Given the description of an element on the screen output the (x, y) to click on. 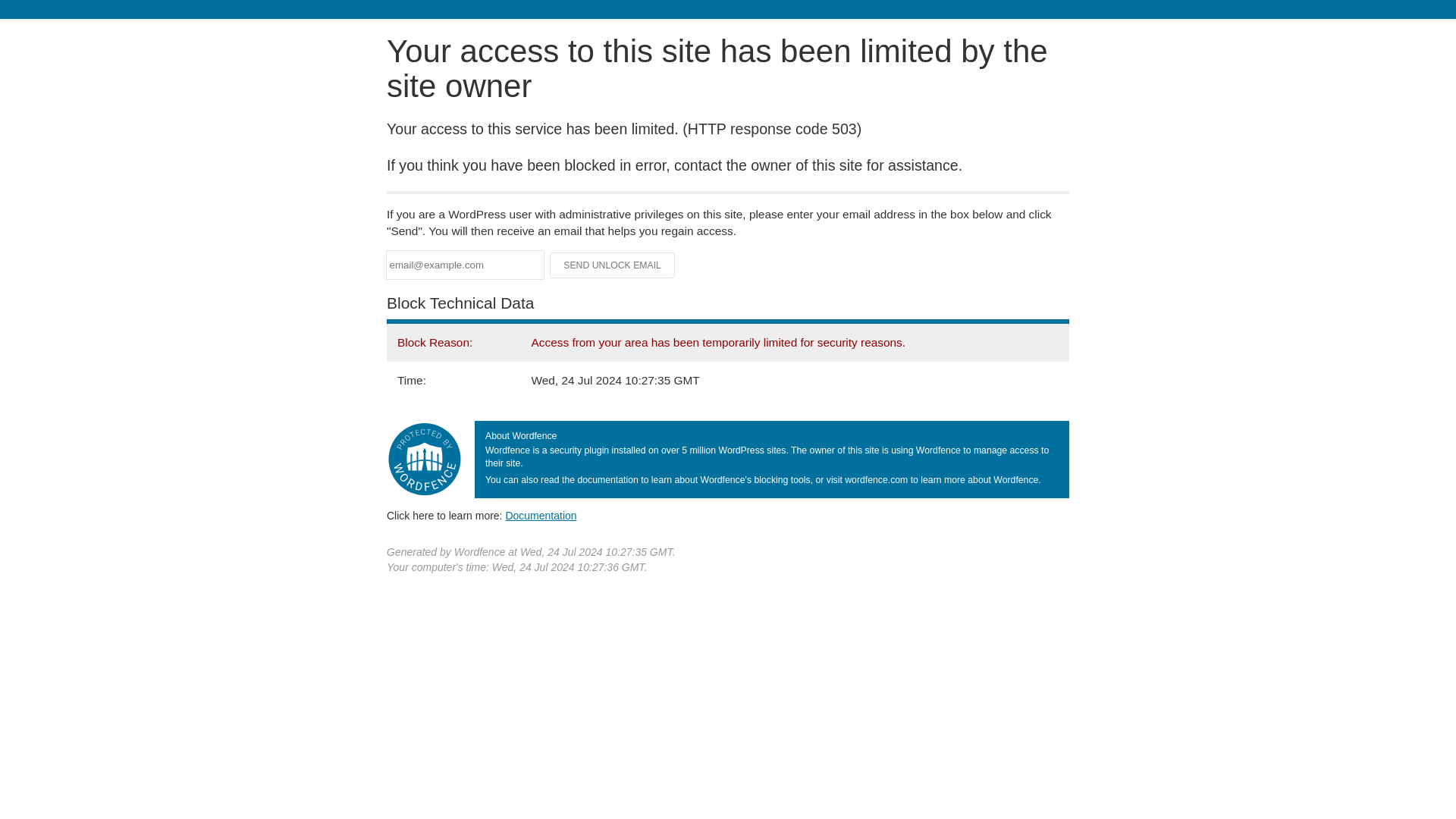
Send Unlock Email (612, 265)
Documentation (540, 515)
Send Unlock Email (612, 265)
